Given the description of an element on the screen output the (x, y) to click on. 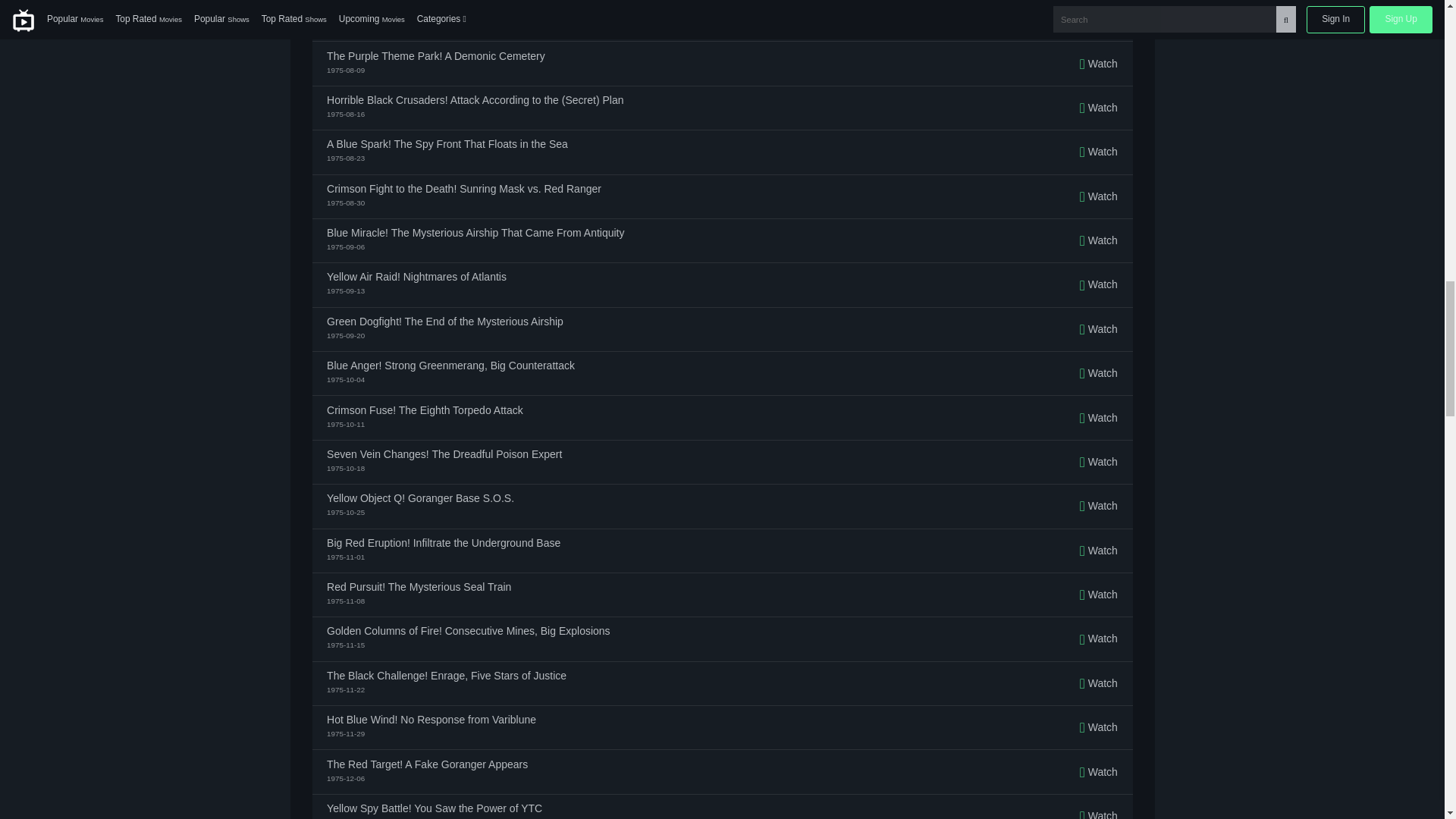
Crimson Fight to the Death! Sunring Mask vs. Red Ranger (463, 188)
The Purple Theme Park! A Demonic Cemetery (435, 55)
A Blue Spark! The Spy Front That Floats in the Sea (446, 143)
White Weirdness! The Eye in the Mirror (419, 10)
